Given the description of an element on the screen output the (x, y) to click on. 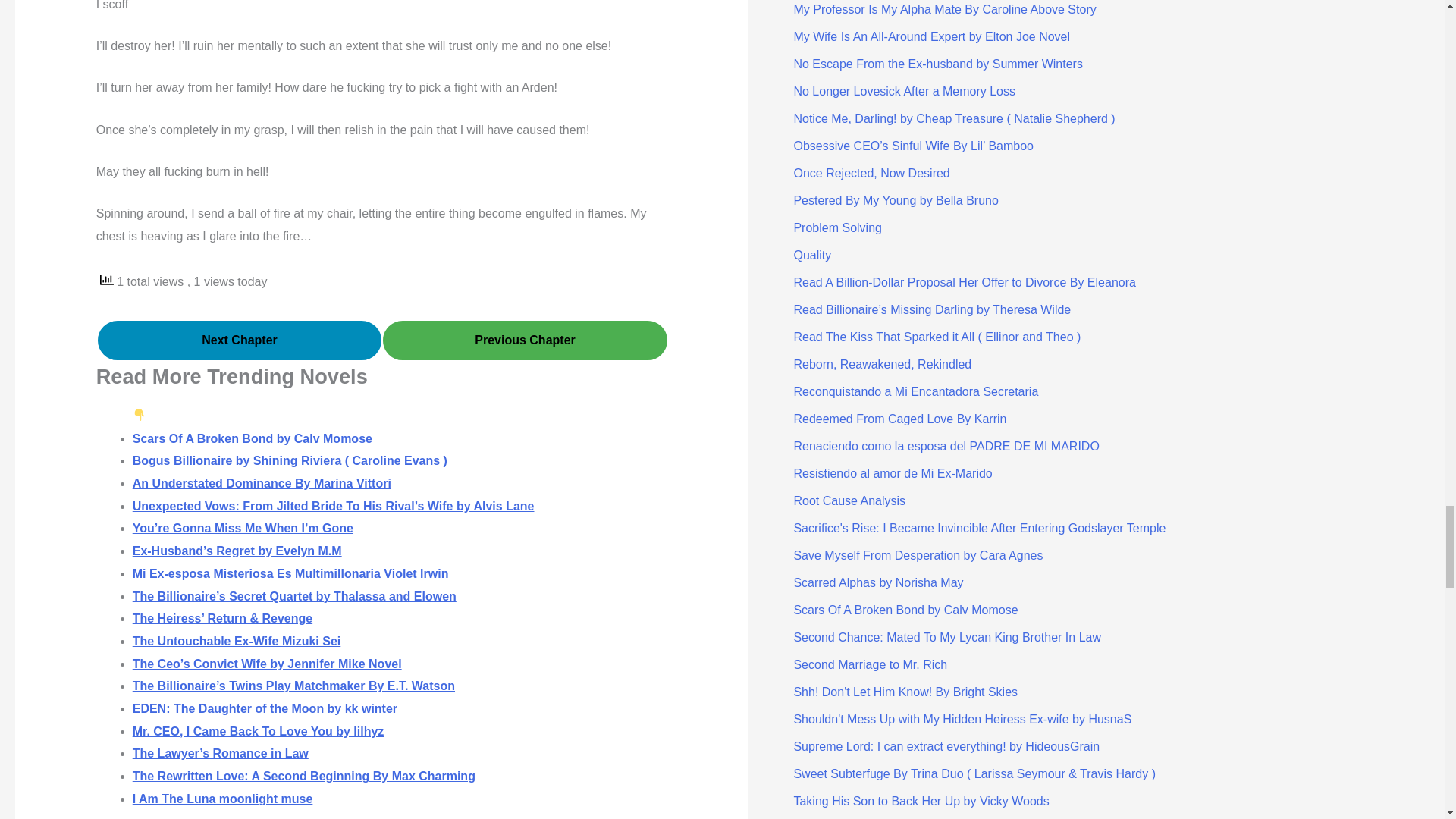
Next Chapter (240, 339)
An Understated Dominance By Marina Vittori (261, 482)
Previous Chapter (524, 340)
Previous Chapter (524, 339)
Scars Of A Broken Bond by Calv Momose (252, 438)
Next Chapter (239, 340)
